Given the description of an element on the screen output the (x, y) to click on. 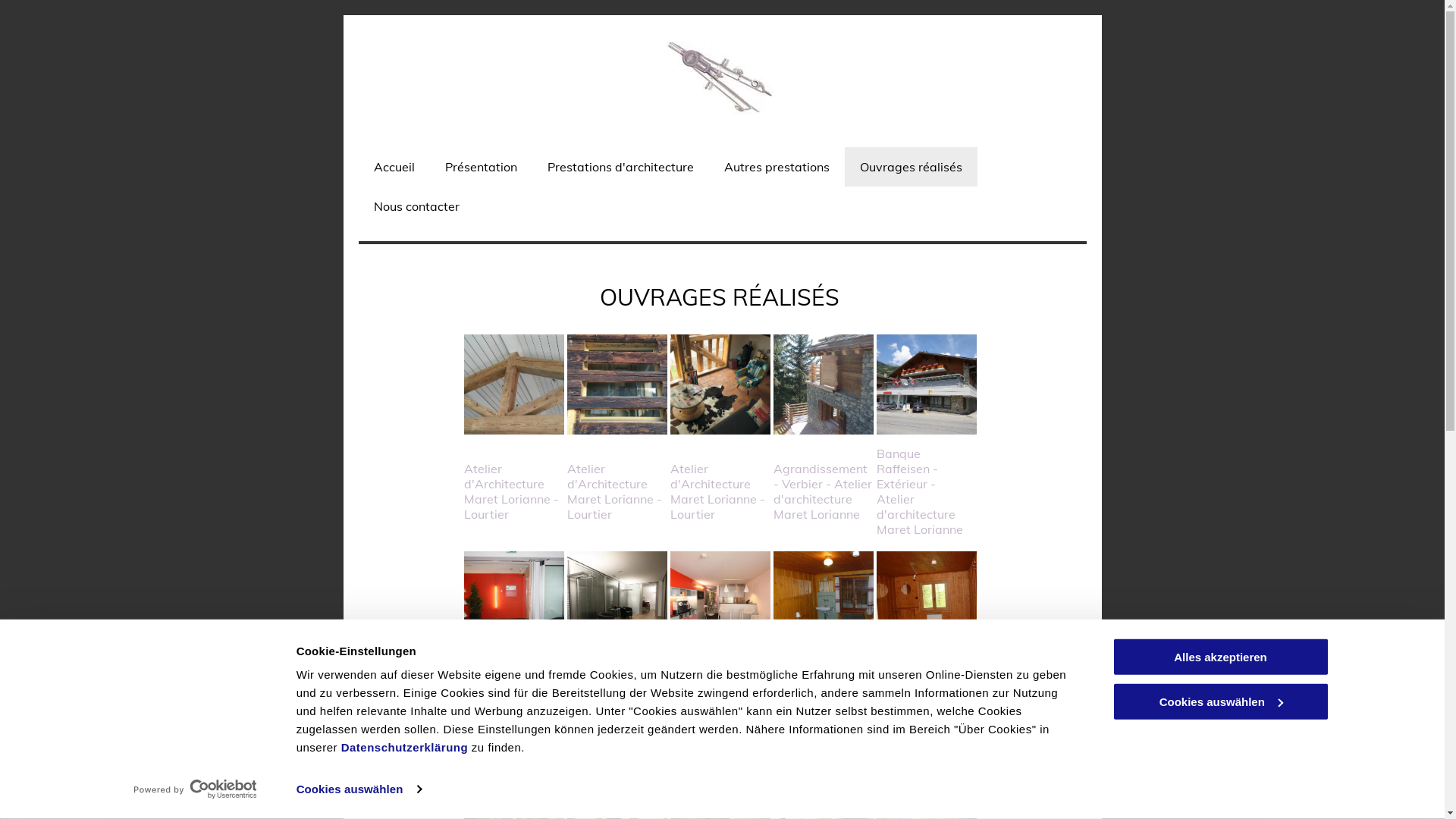
Atelier d'Architecture Maret Lorianne - Lourtier Element type: hover (617, 601)
Atelier d'Architecture Maret Lorianne - Lourtier Element type: hover (926, 601)
Alles akzeptieren Element type: text (1219, 656)
Atelier d'Architecture Maret Lorianne - Lourtier Element type: hover (720, 384)
Prestations d'architecture Element type: text (620, 166)
Atelier d'Architecture Maret Lorianne - Lourtier Element type: hover (823, 601)
Atelier d'Architecture Maret Lorianne - Lourtier Element type: hover (720, 601)
Autres prestations Element type: text (776, 166)
Atelier d'Architecture Maret Lorianne - Lourtier Element type: hover (514, 601)
Accueil Element type: text (393, 166)
Atelier d'Architecture Maret Lorianne - Lourtier Element type: hover (823, 384)
Atelier d'Architecture Maret Lorianne - Lourtier Element type: hover (617, 384)
Atelier d'Architecture Maret Lorianne - Lourtier Element type: hover (926, 384)
Nous contacter Element type: text (415, 205)
Atelier d'Architecture Maret Lorianne - Lourtier Element type: hover (514, 384)
